Given the description of an element on the screen output the (x, y) to click on. 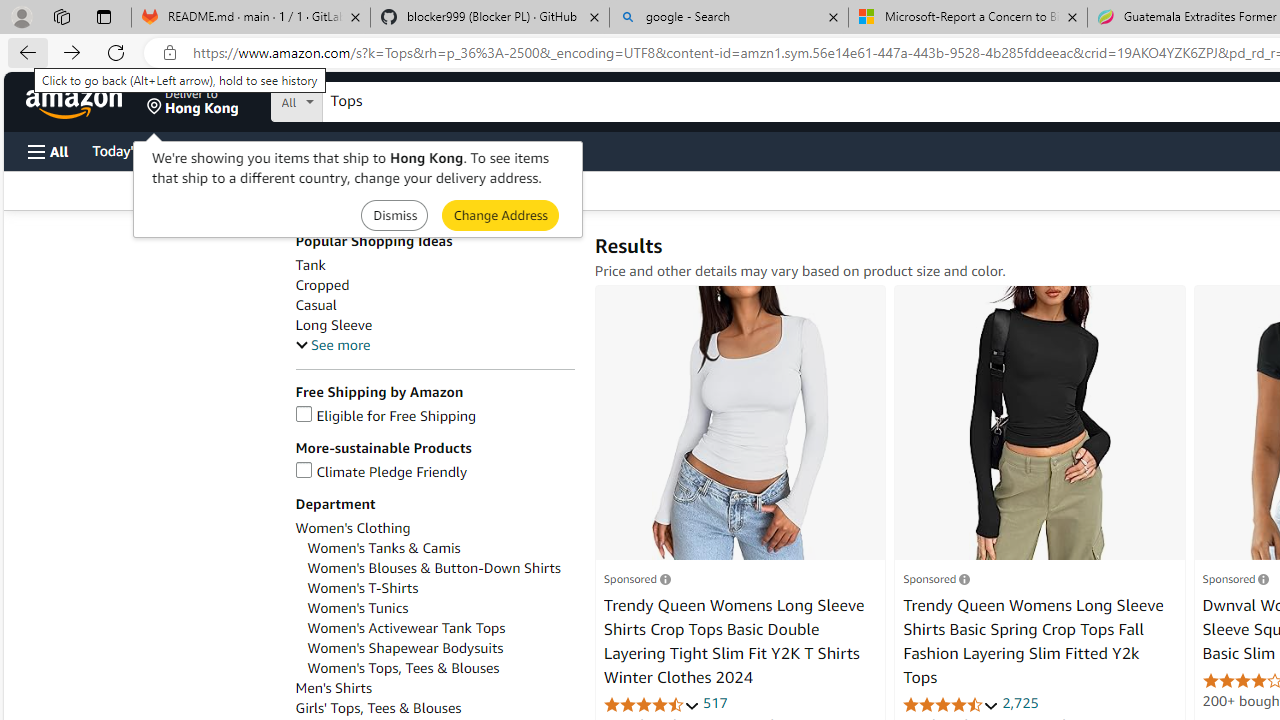
Climate Pledge Friendly (381, 471)
Open Menu (48, 151)
Women's Blouses & Button-Down Shirts (433, 568)
2,725 (1020, 702)
Gift Cards (442, 150)
Women's Tunics (358, 608)
Men's Shirts (434, 687)
Submit (499, 214)
Deliver to Hong Kong (193, 101)
